Given the description of an element on the screen output the (x, y) to click on. 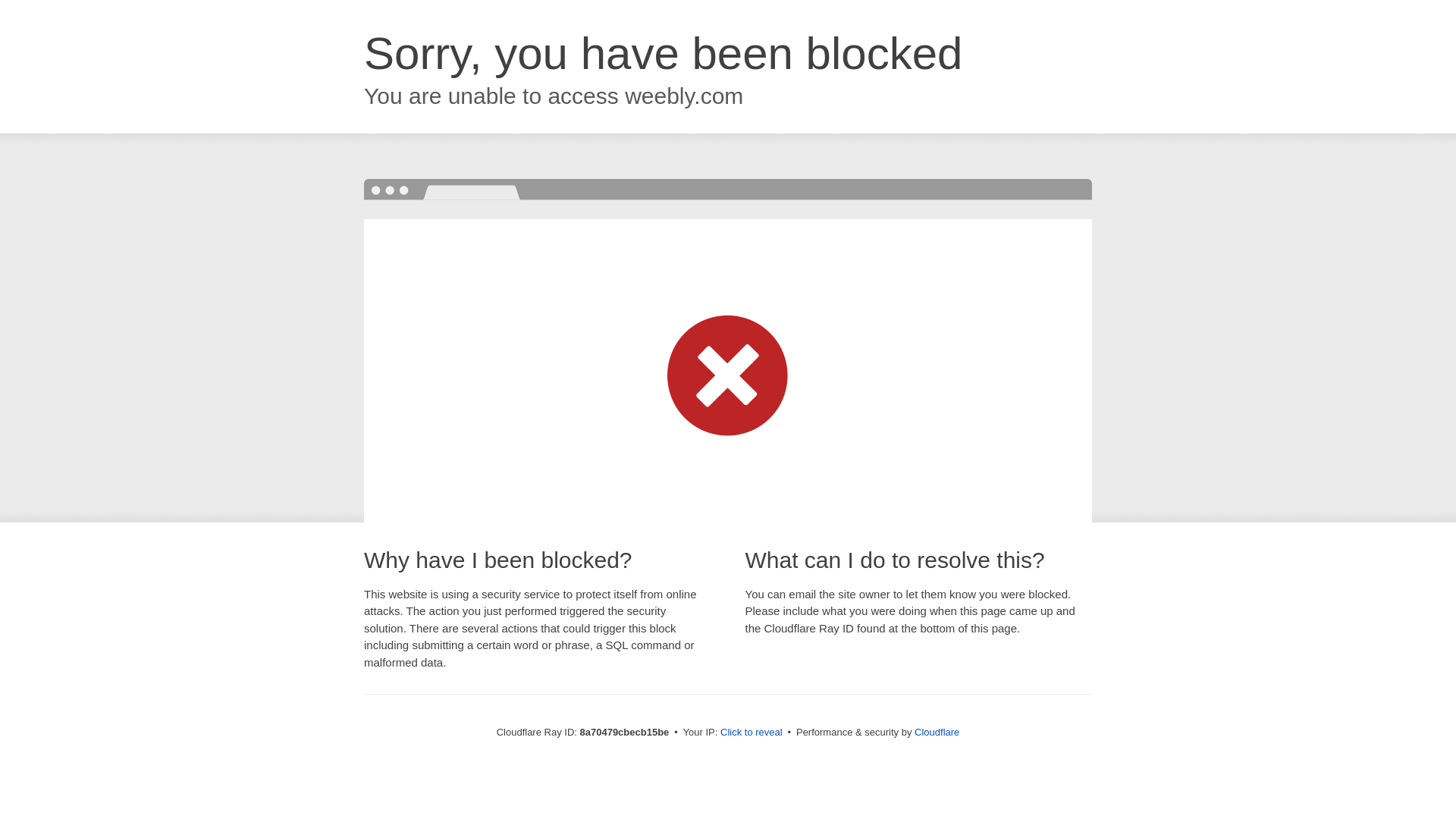
Cloudflare (936, 731)
Click to reveal (751, 732)
